Given the description of an element on the screen output the (x, y) to click on. 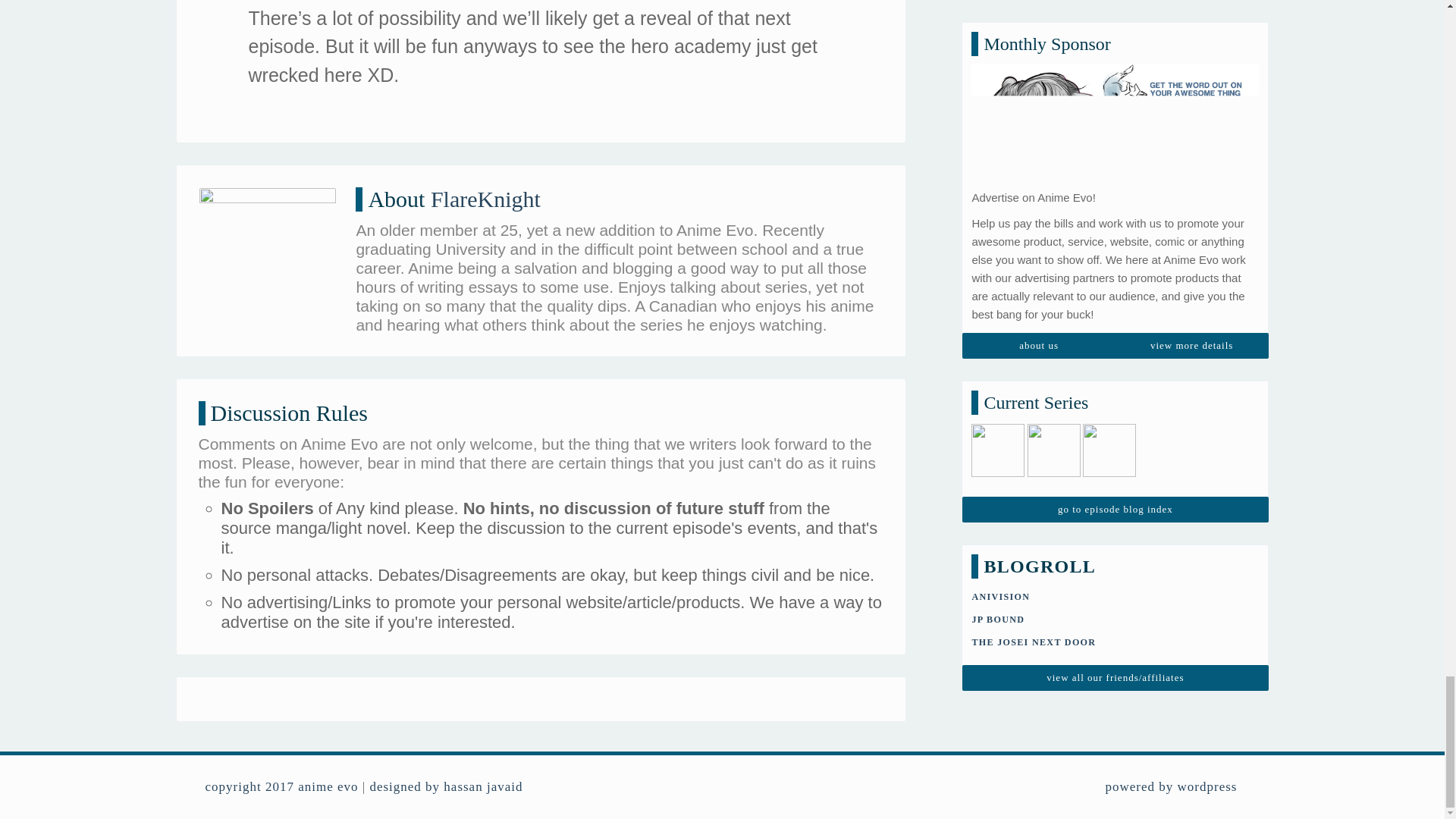
Posts by FlareKnight (485, 198)
designed by hassan javaid (445, 786)
copyright 2017 anime evo (281, 786)
FlareKnight (485, 198)
